Given the description of an element on the screen output the (x, y) to click on. 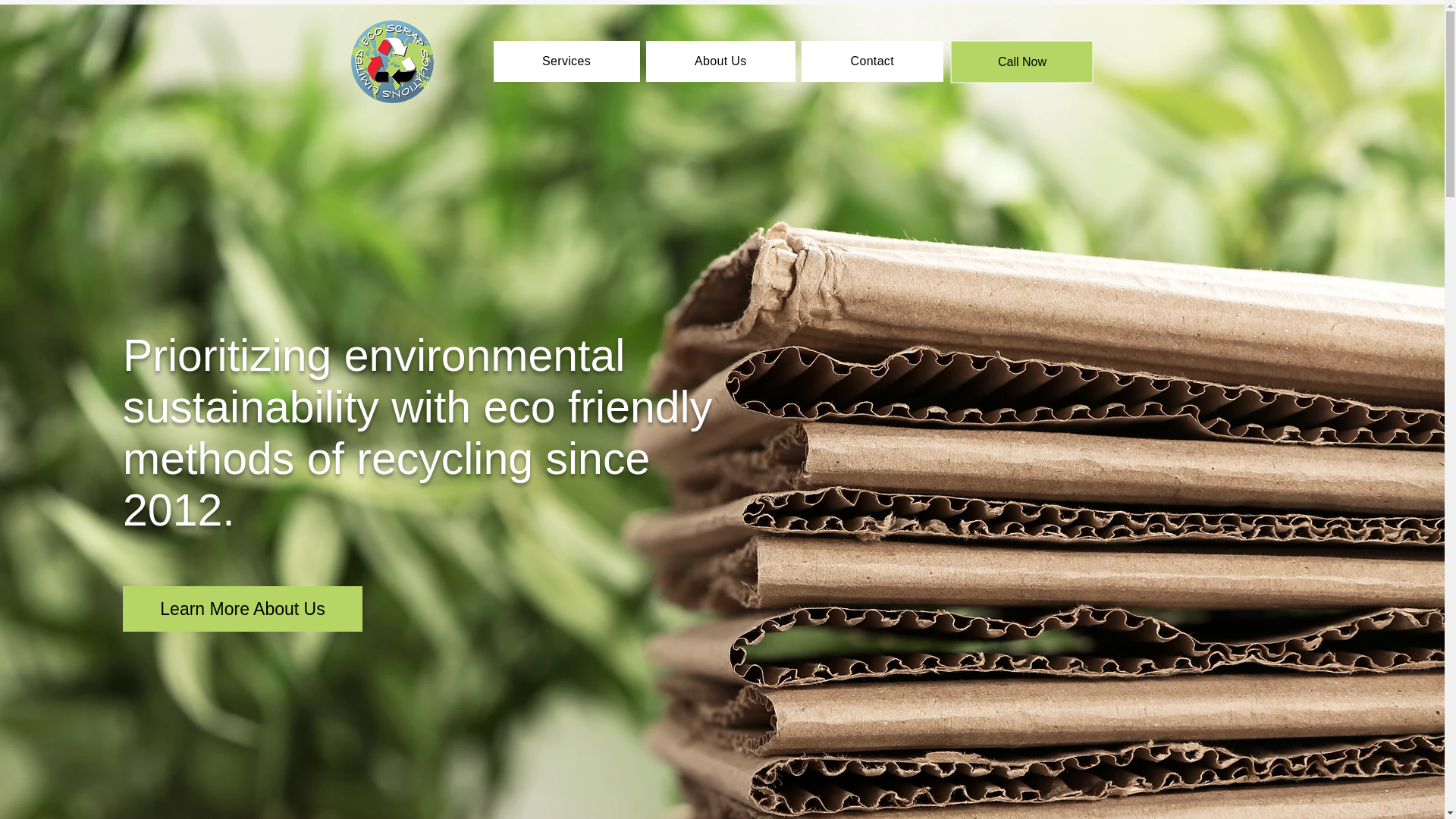
Call Now (1021, 61)
About Us (720, 60)
Services (566, 60)
Contact (872, 60)
Learn More About Us (242, 608)
